Given the description of an element on the screen output the (x, y) to click on. 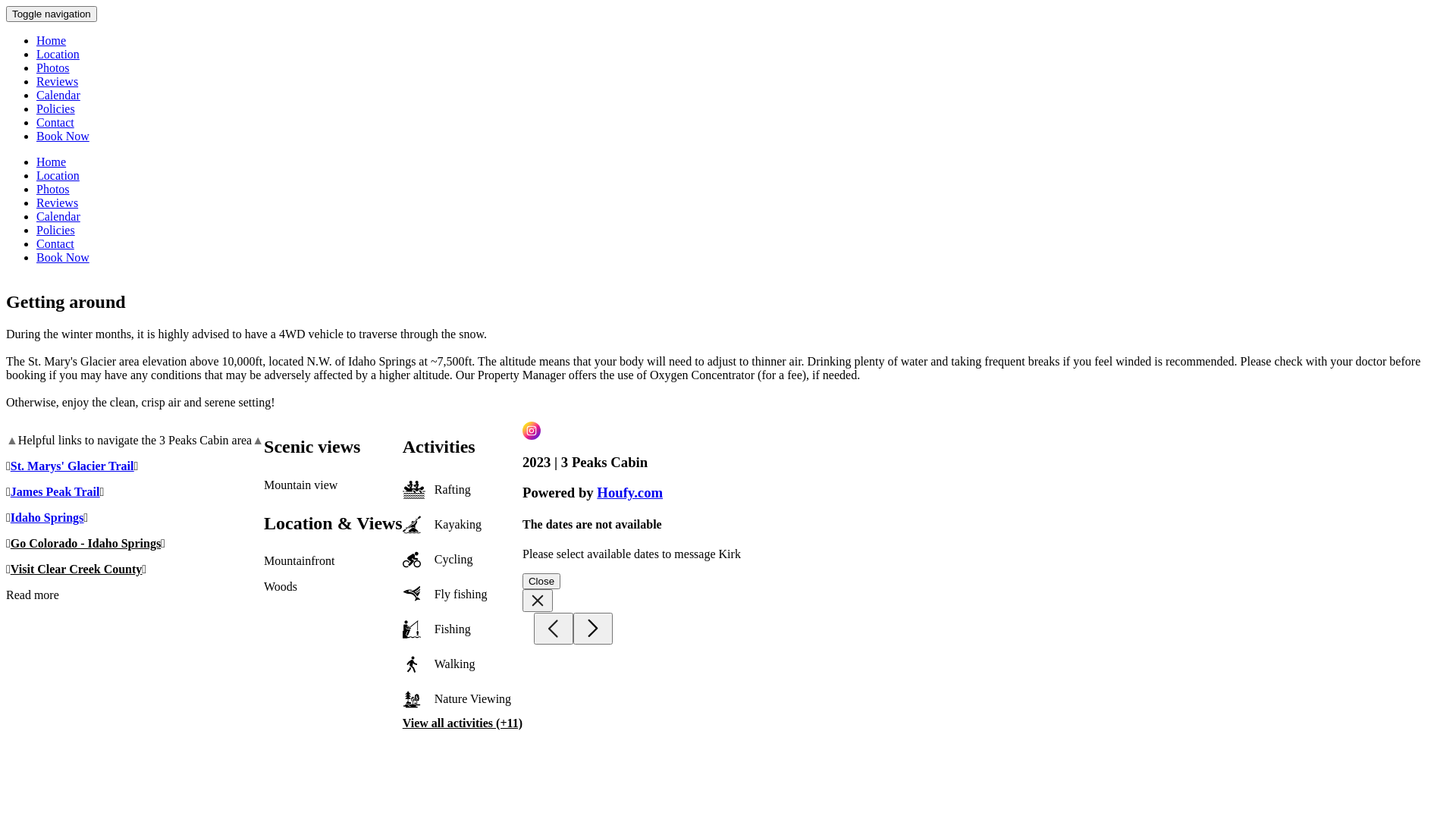
Close (Esc) Element type: hover (537, 600)
Calendar Element type: text (58, 94)
Photos Element type: text (52, 188)
Idaho Springs Element type: text (47, 517)
Location Element type: text (57, 175)
Reviews Element type: text (57, 81)
Previous Picture Element type: hover (553, 628)
Home Element type: text (50, 40)
Contact Element type: text (55, 122)
View all activities (+11) Element type: text (462, 722)
Photos Element type: text (52, 67)
St. Marys' Glacier Trail Element type: text (72, 465)
Policies Element type: text (55, 229)
Policies Element type: text (55, 108)
Book Now Element type: text (62, 257)
Reviews Element type: text (57, 202)
Contact Element type: text (55, 243)
Go Colorado - Idaho Springs Element type: text (85, 542)
Visit Clear Creek County Element type: text (75, 568)
Location Element type: text (57, 53)
Calendar Element type: text (58, 216)
Toggle navigation Element type: text (51, 13)
Next Picture Element type: hover (592, 628)
Book Now Element type: text (62, 135)
Houfy.com Element type: text (629, 492)
Close Element type: text (541, 581)
James Peak Trail Element type: text (55, 491)
Home Element type: text (50, 161)
